Given the description of an element on the screen output the (x, y) to click on. 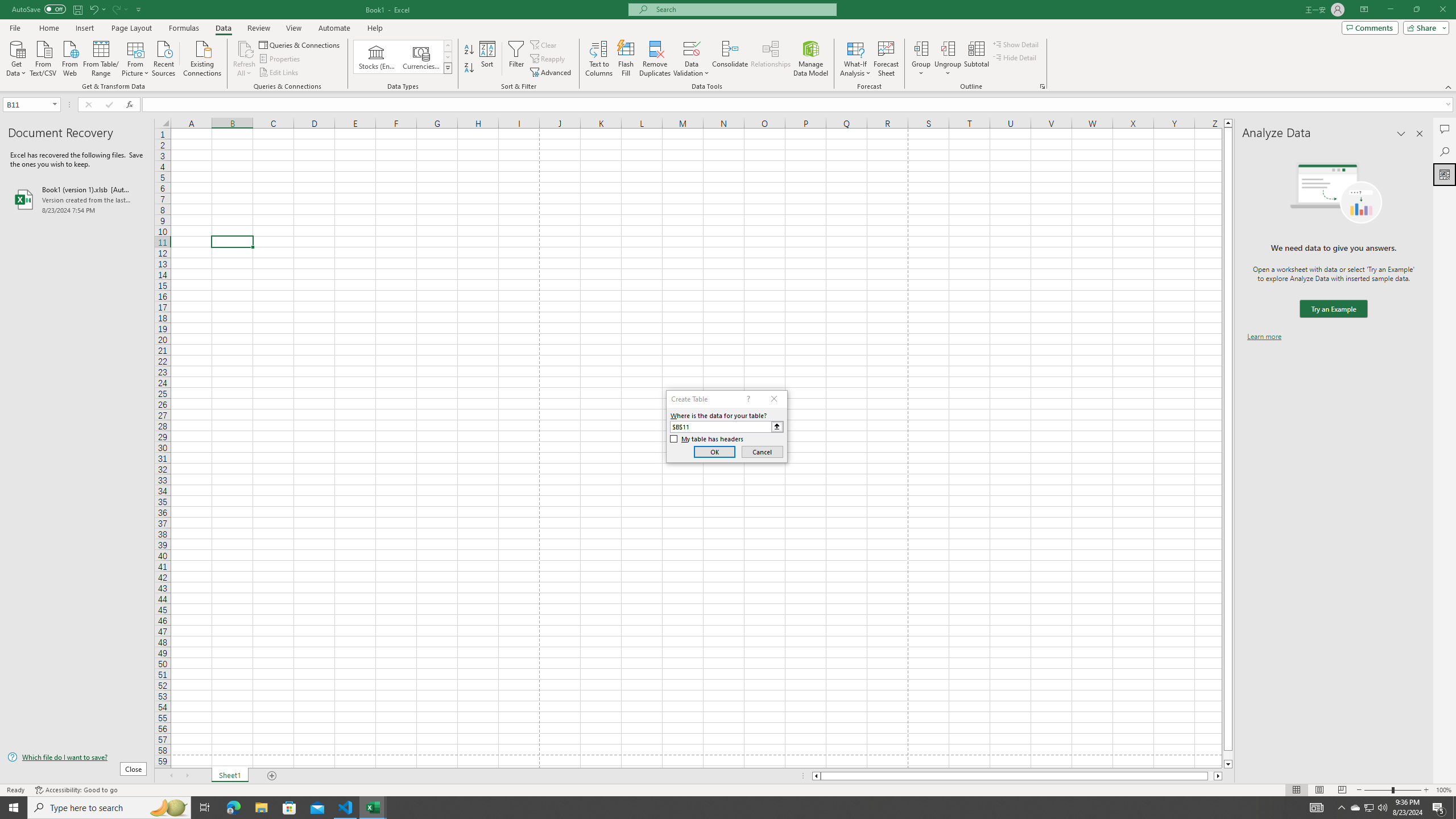
Group and Outline Settings (1042, 85)
From Web (69, 57)
Filter (515, 58)
Properties (280, 58)
We need data to give you answers. Try an Example (1333, 308)
